Given the description of an element on the screen output the (x, y) to click on. 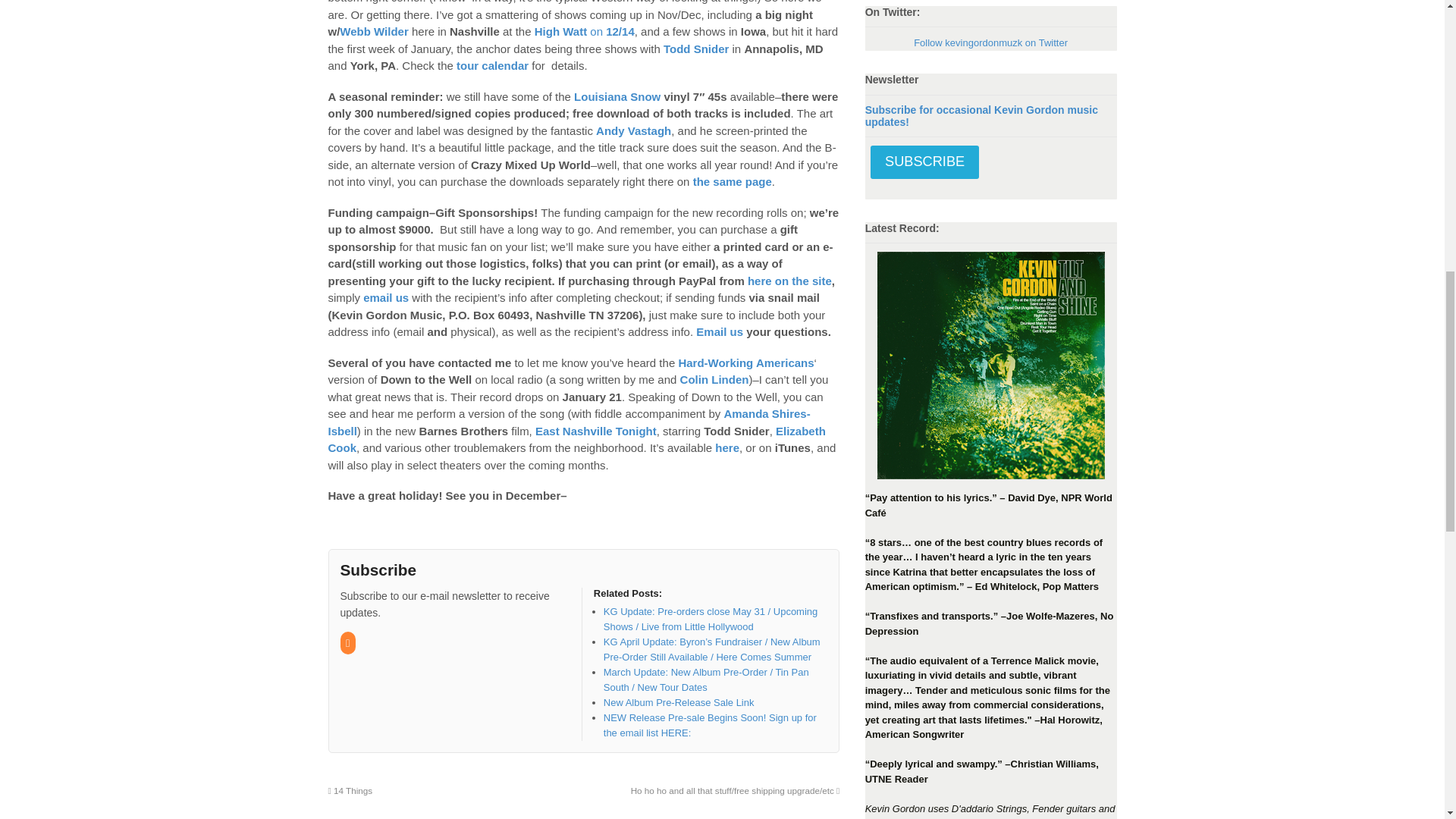
New Album Pre-Release Sale Link (679, 702)
boss construction link (633, 130)
Todd Snider (696, 48)
Louisiana Snow (617, 96)
kg tour page (492, 65)
Andy Vastagh (633, 130)
louisiana snow link (617, 96)
Webb Wilder (373, 31)
tour calendar (492, 65)
Louisiana Snow (732, 181)
